Given the description of an element on the screen output the (x, y) to click on. 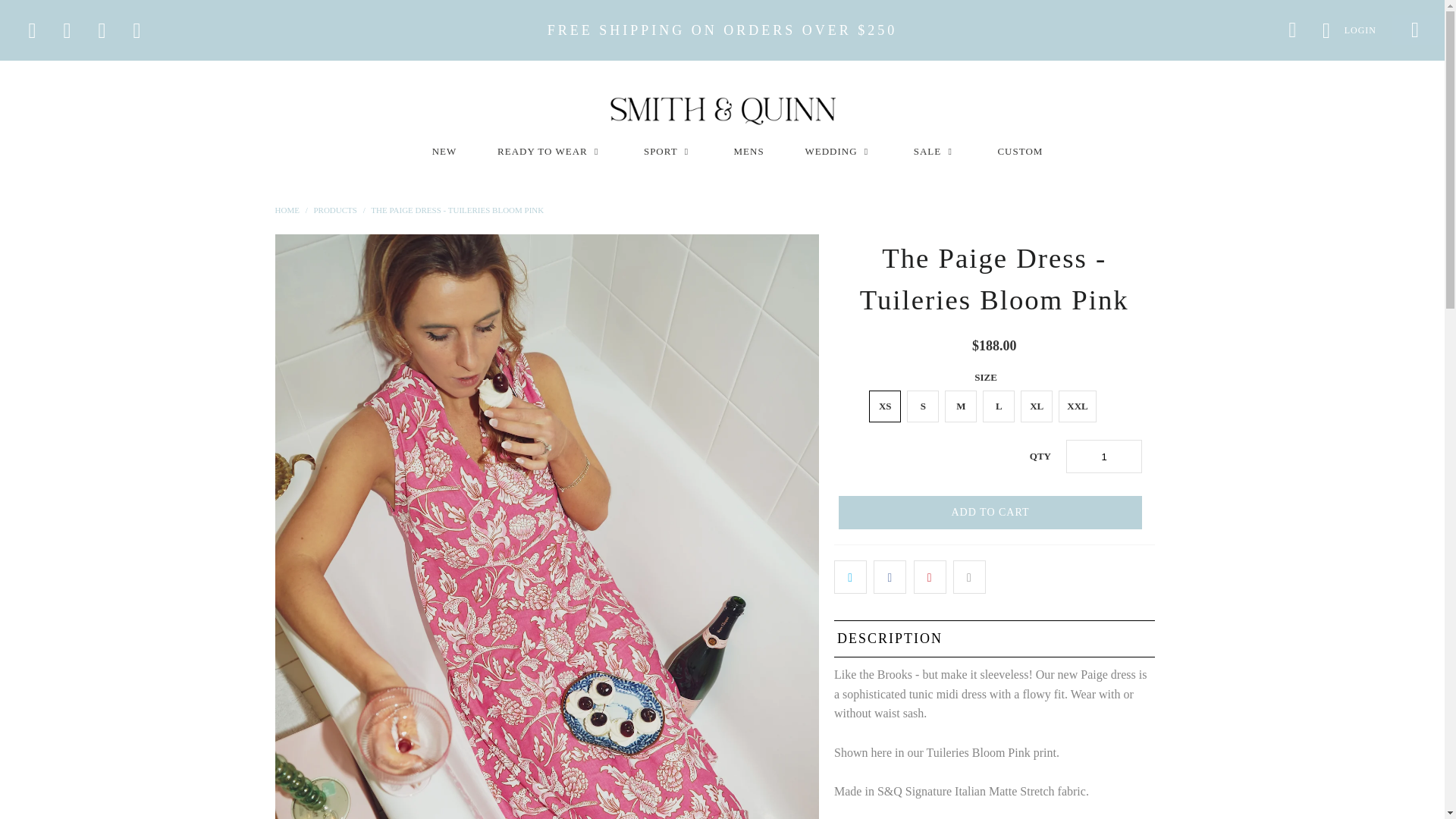
Smith and Quinn (721, 109)
Share this on Pinterest (930, 576)
Products (334, 209)
My Account  (1346, 30)
1 (1103, 456)
Share this on Facebook (889, 576)
Search (1292, 29)
Email this to a friend (969, 576)
Smith and Quinn on Instagram (100, 30)
Email Smith and Quinn (135, 30)
Smith and Quinn (286, 209)
Share this on Twitter (850, 576)
Smith and Quinn on Facebook (30, 30)
Smith and Quinn on Pinterest (65, 30)
